Given the description of an element on the screen output the (x, y) to click on. 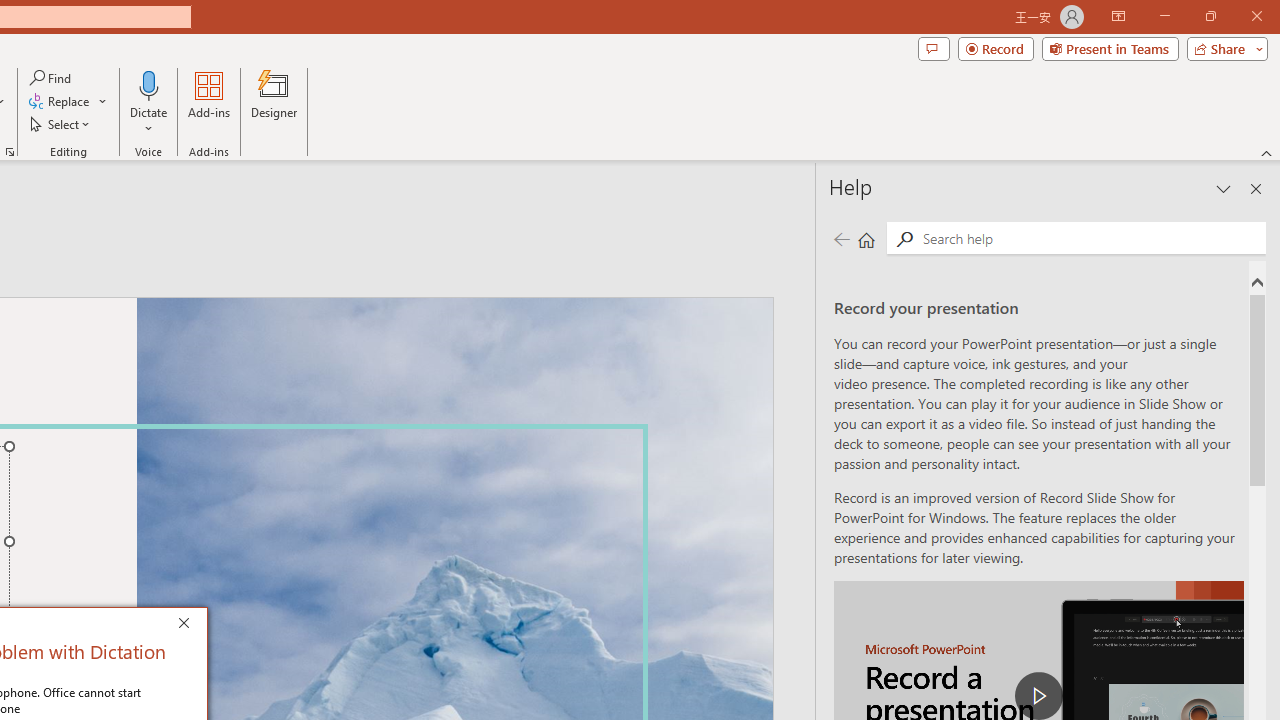
play Record a Presentation (1038, 695)
